Given the description of an element on the screen output the (x, y) to click on. 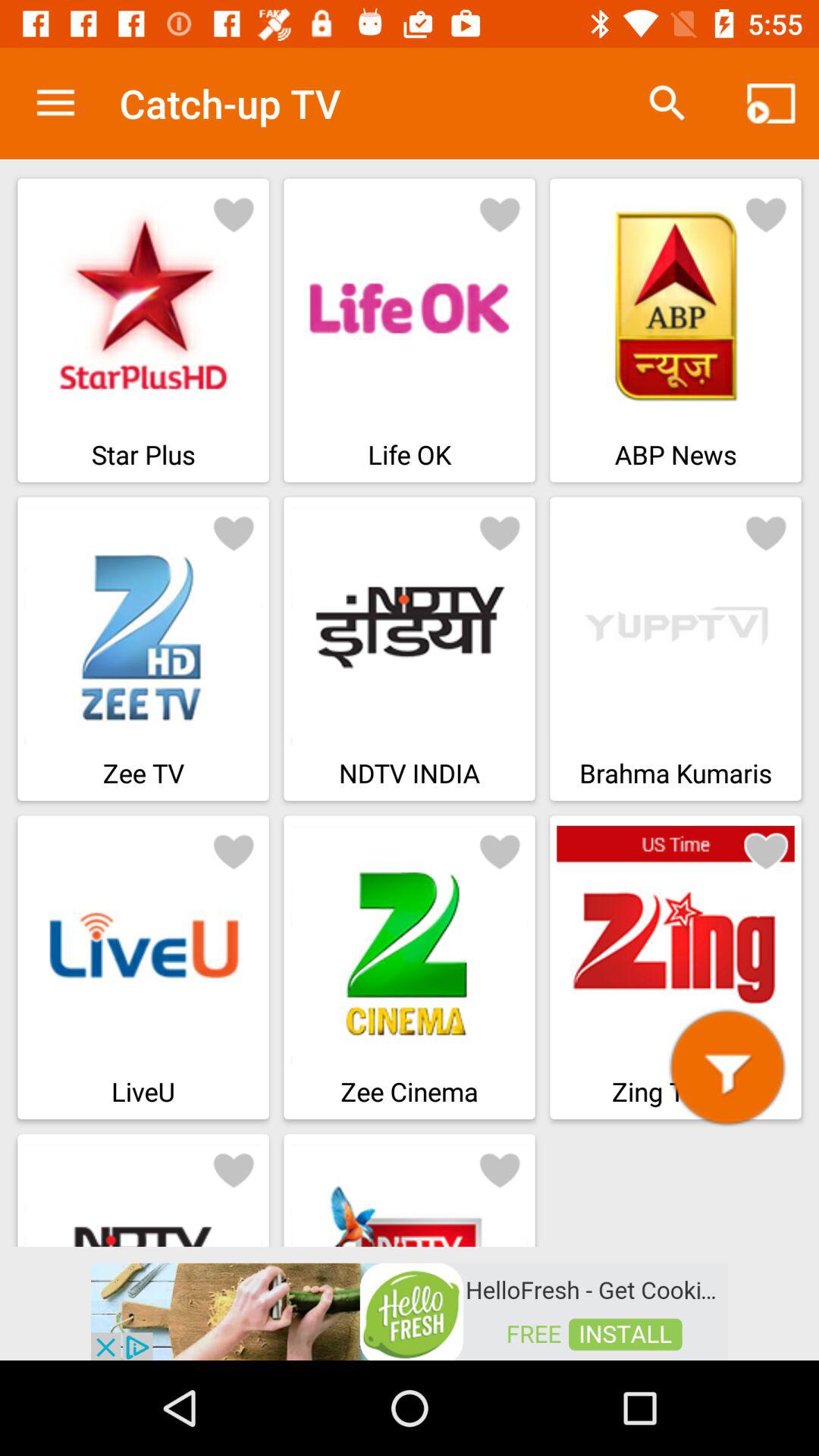
toggle favorite (499, 1169)
